Given the description of an element on the screen output the (x, y) to click on. 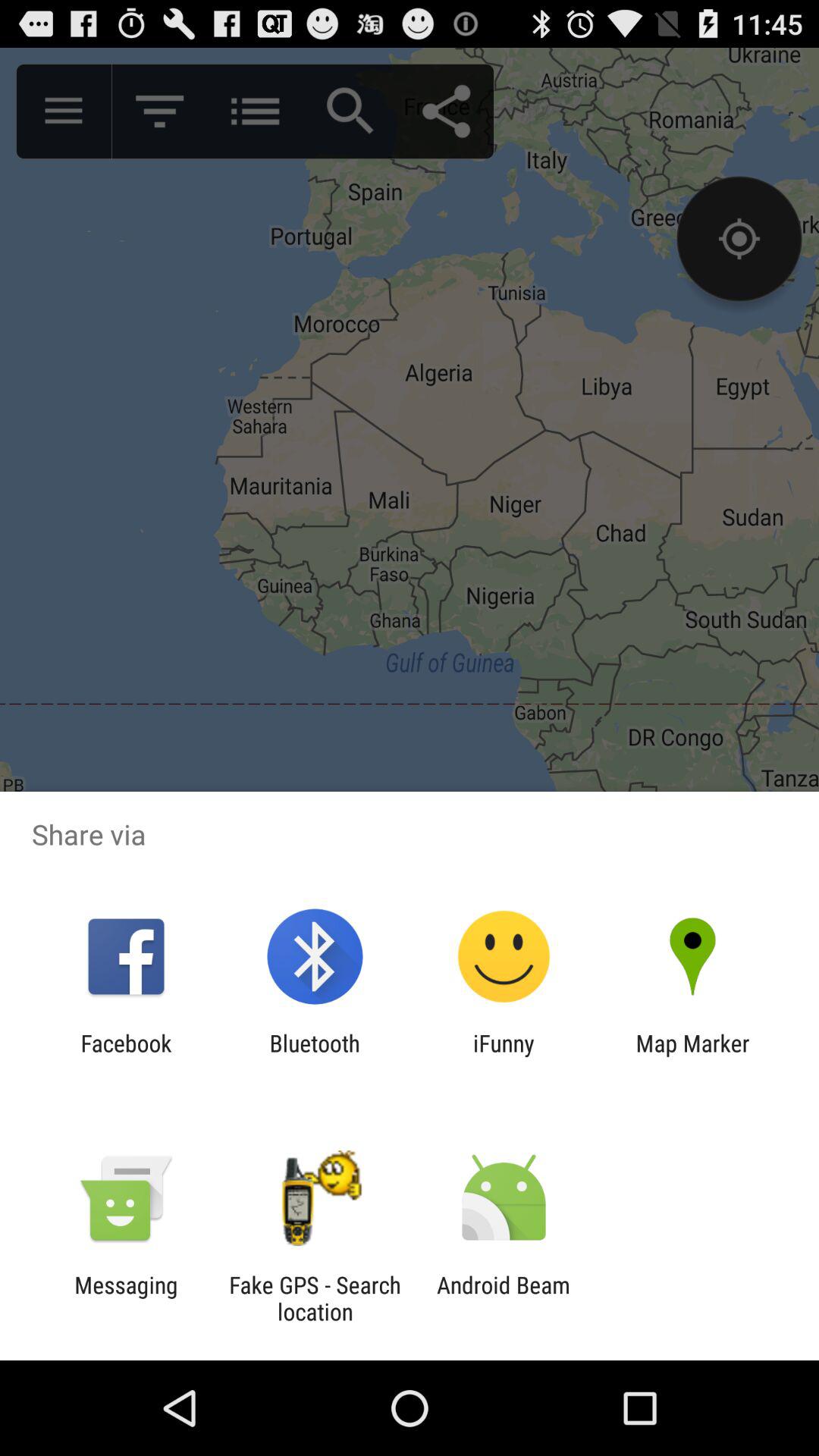
choose the item next to the fake gps search app (503, 1298)
